Given the description of an element on the screen output the (x, y) to click on. 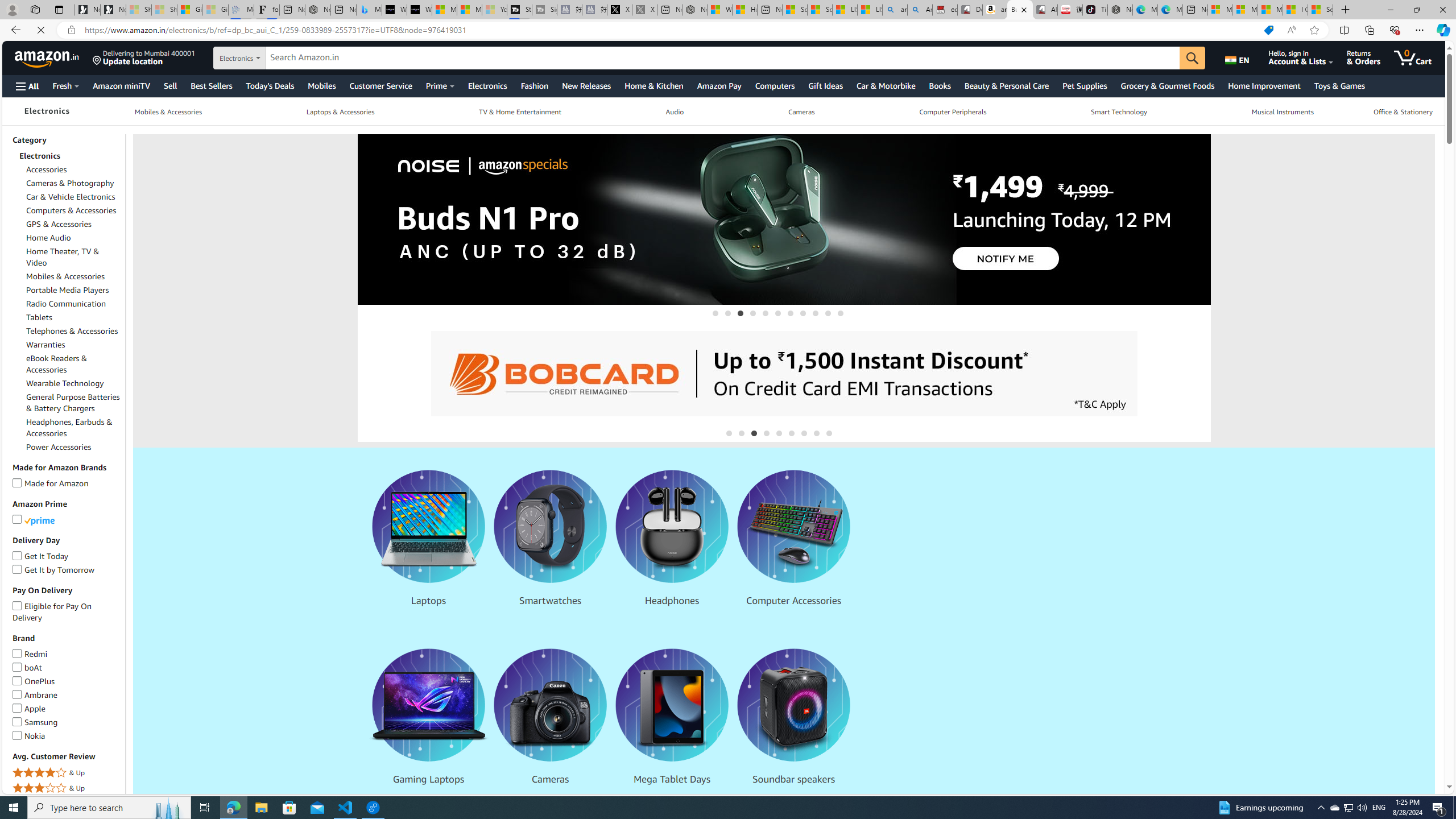
Computers (774, 85)
Returns & Orders (1371, 57)
Books (939, 85)
Toys & Games (1339, 85)
Nordace - Best Sellers (1119, 9)
Gift Ideas (825, 85)
Fashion (533, 85)
